Given the description of an element on the screen output the (x, y) to click on. 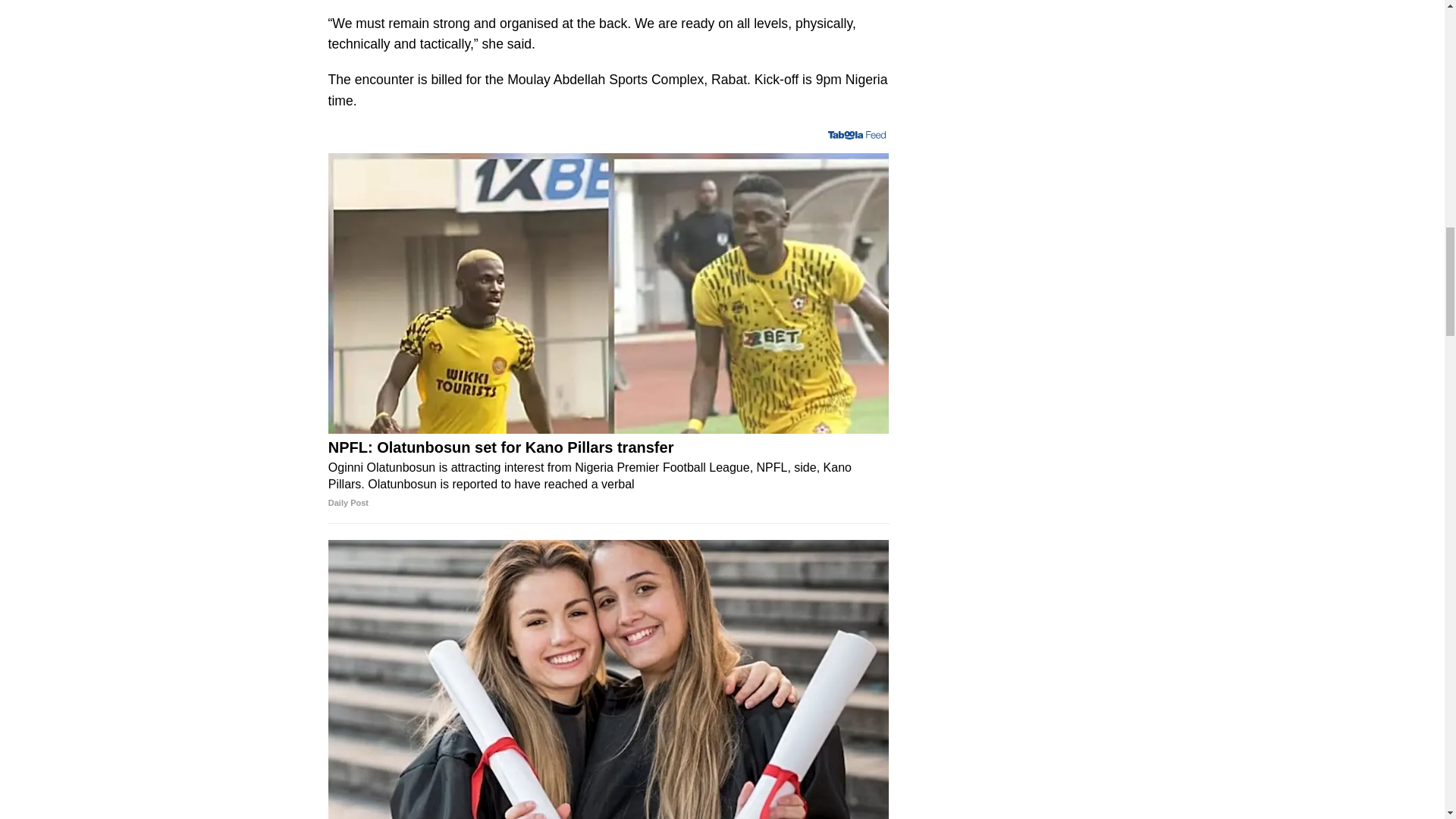
NPFL: Olatunbosun set for Kano Pillars transfer (609, 475)
